Given the description of an element on the screen output the (x, y) to click on. 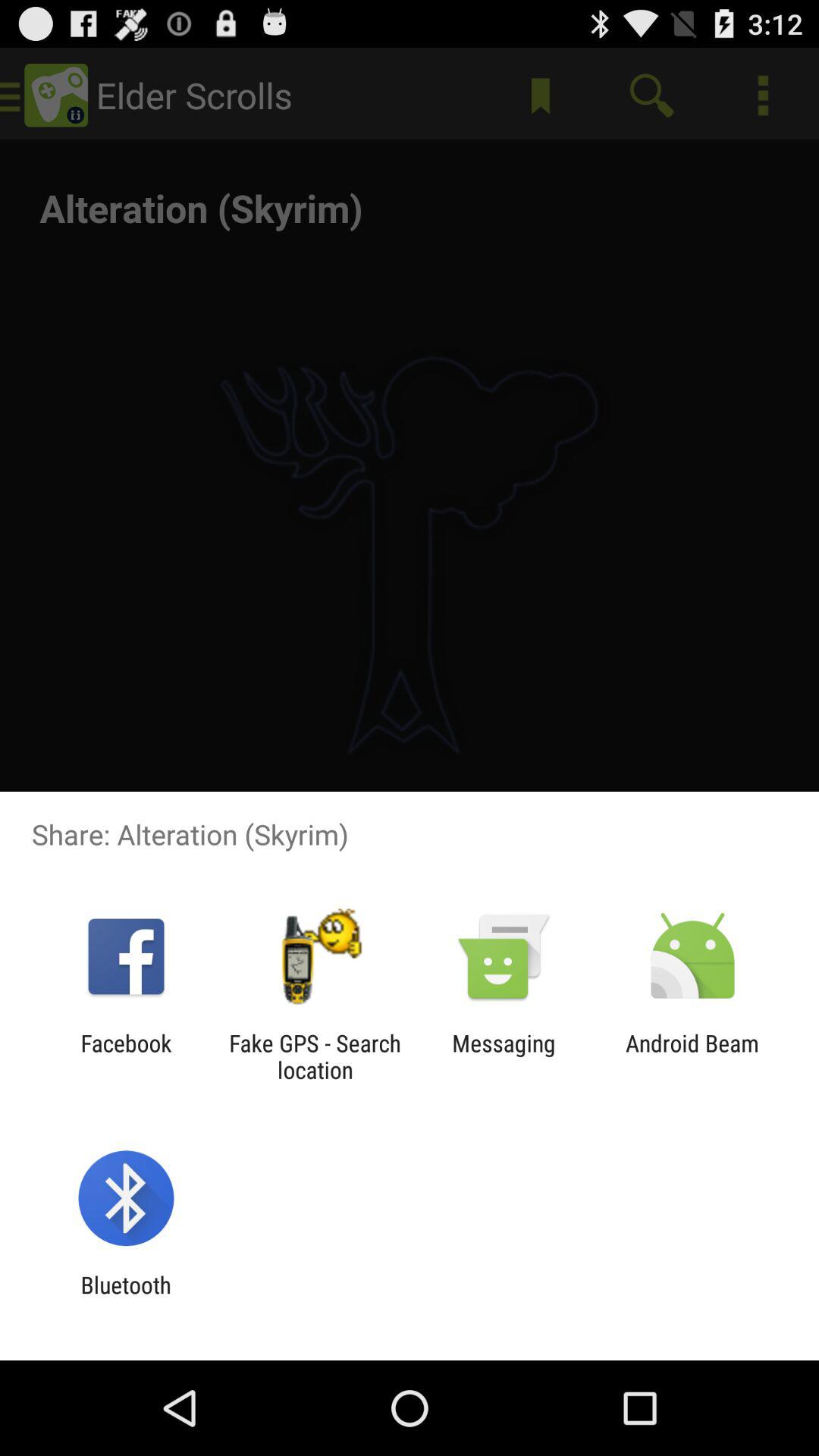
jump until bluetooth (125, 1298)
